Given the description of an element on the screen output the (x, y) to click on. 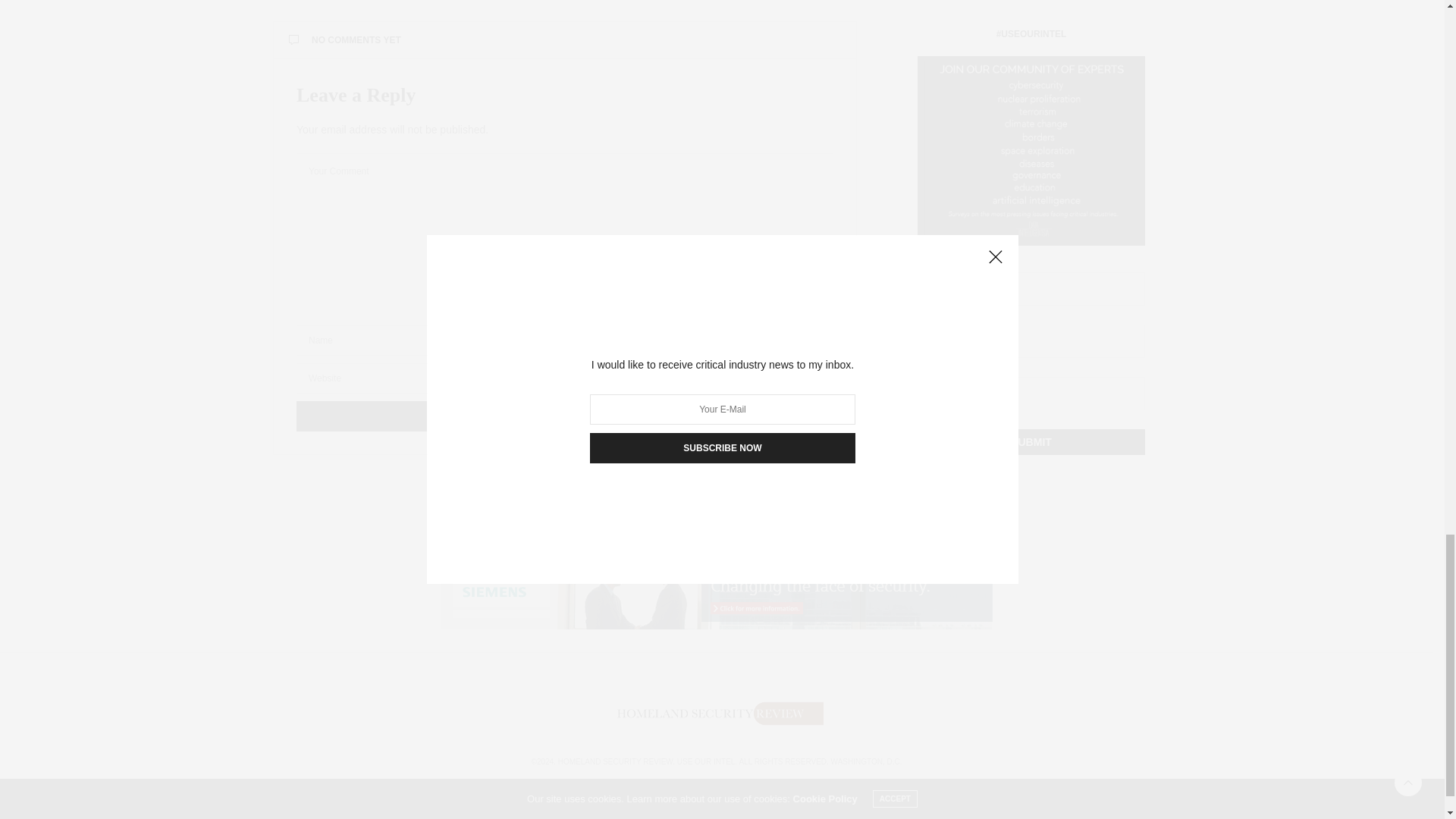
NO COMMENTS YET (564, 40)
Submit Comment (564, 416)
Submit Comment (564, 416)
